Given the description of an element on the screen output the (x, y) to click on. 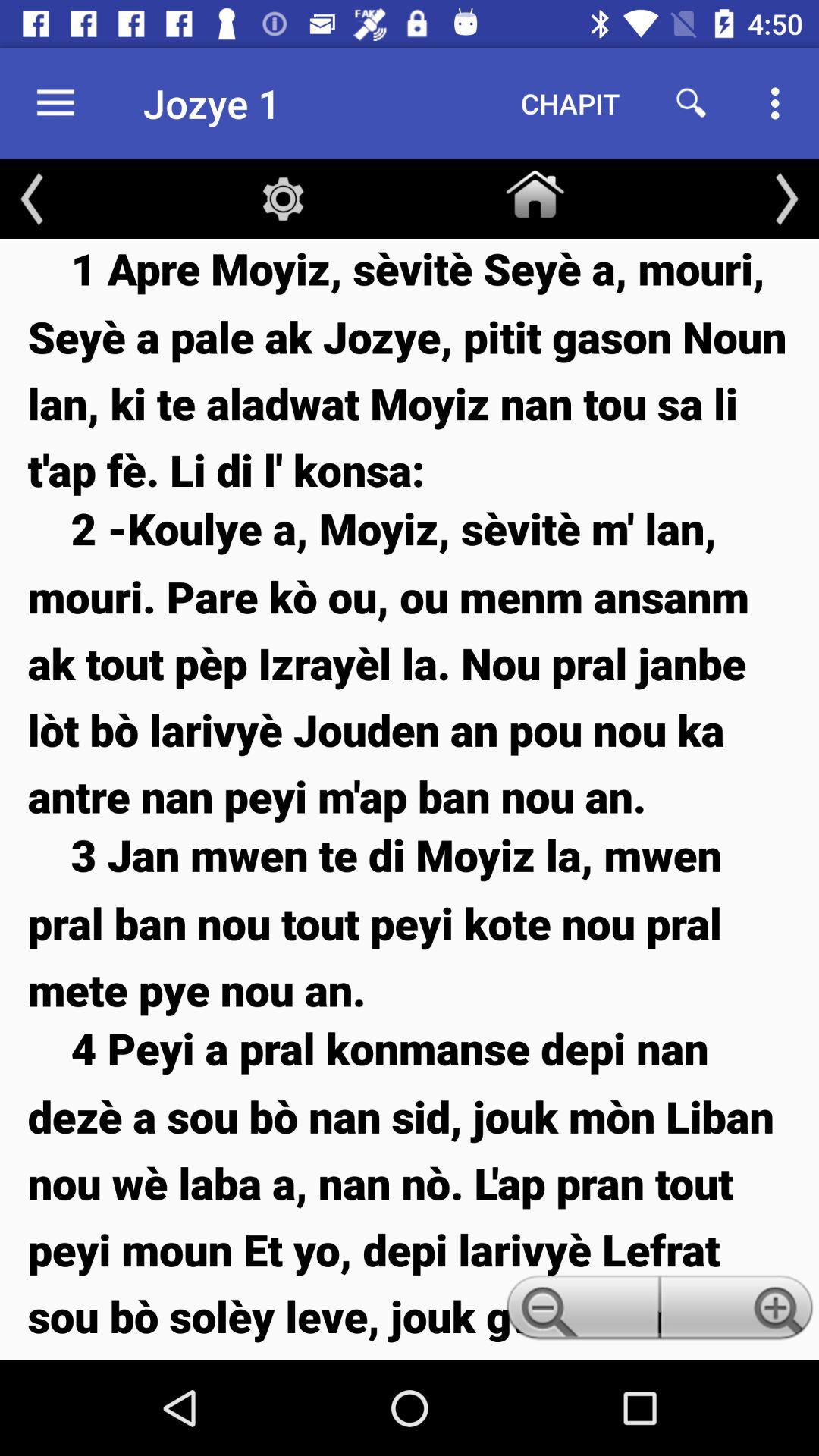
select the item above the 1 apre moyiz item (787, 198)
